Given the description of an element on the screen output the (x, y) to click on. 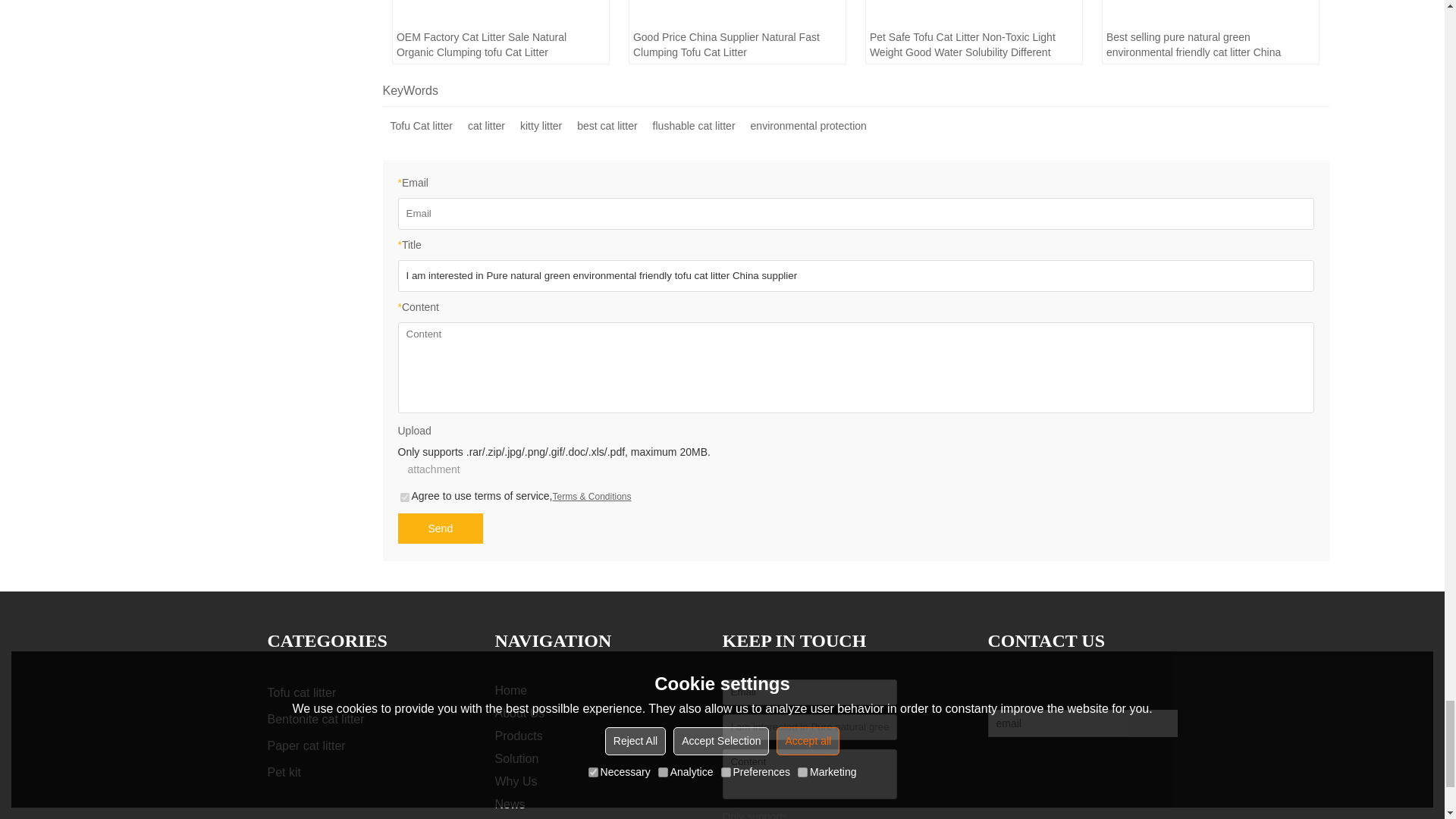
on (404, 497)
